Given the description of an element on the screen output the (x, y) to click on. 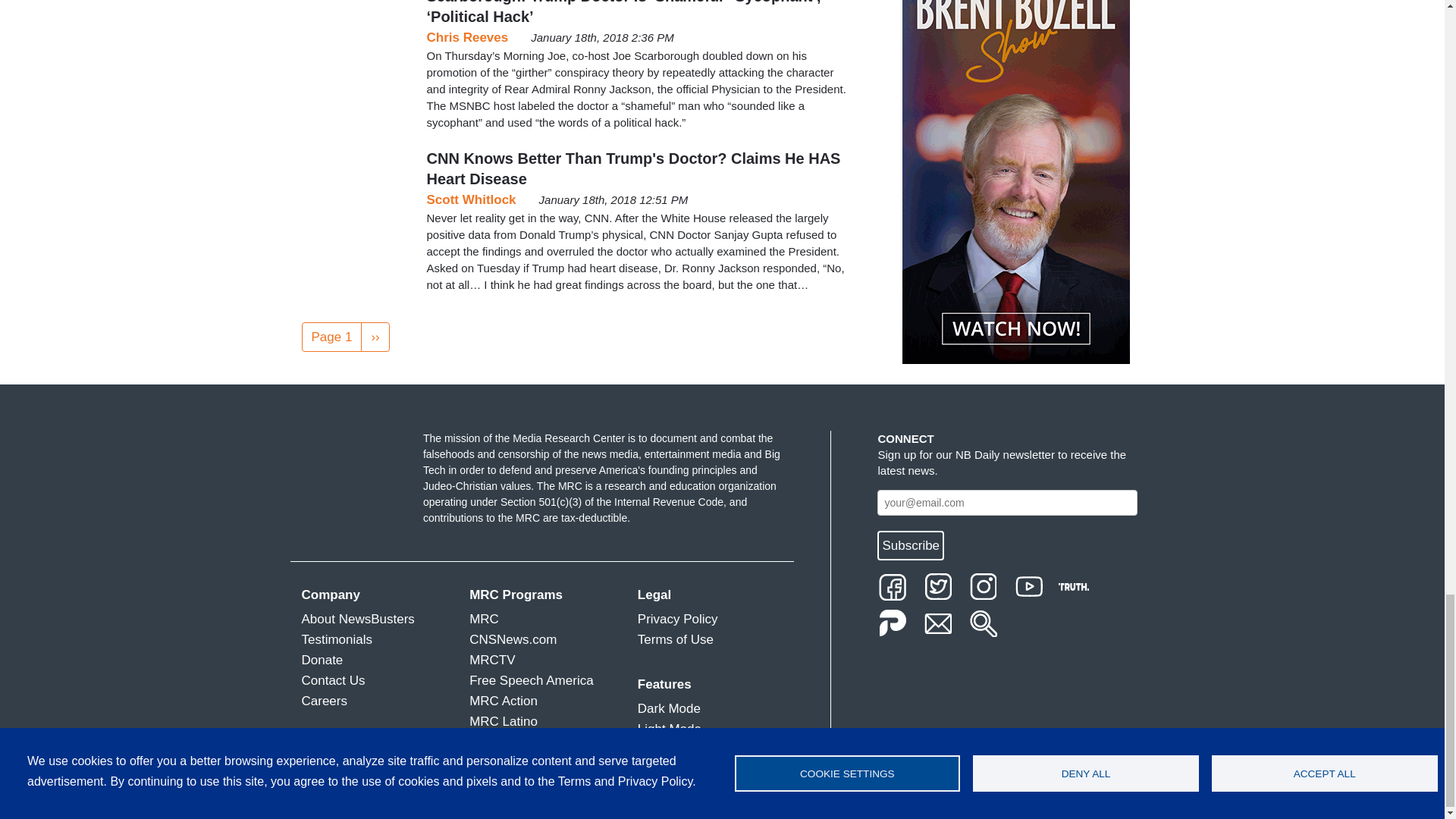
Go to next page (374, 337)
